Given the description of an element on the screen output the (x, y) to click on. 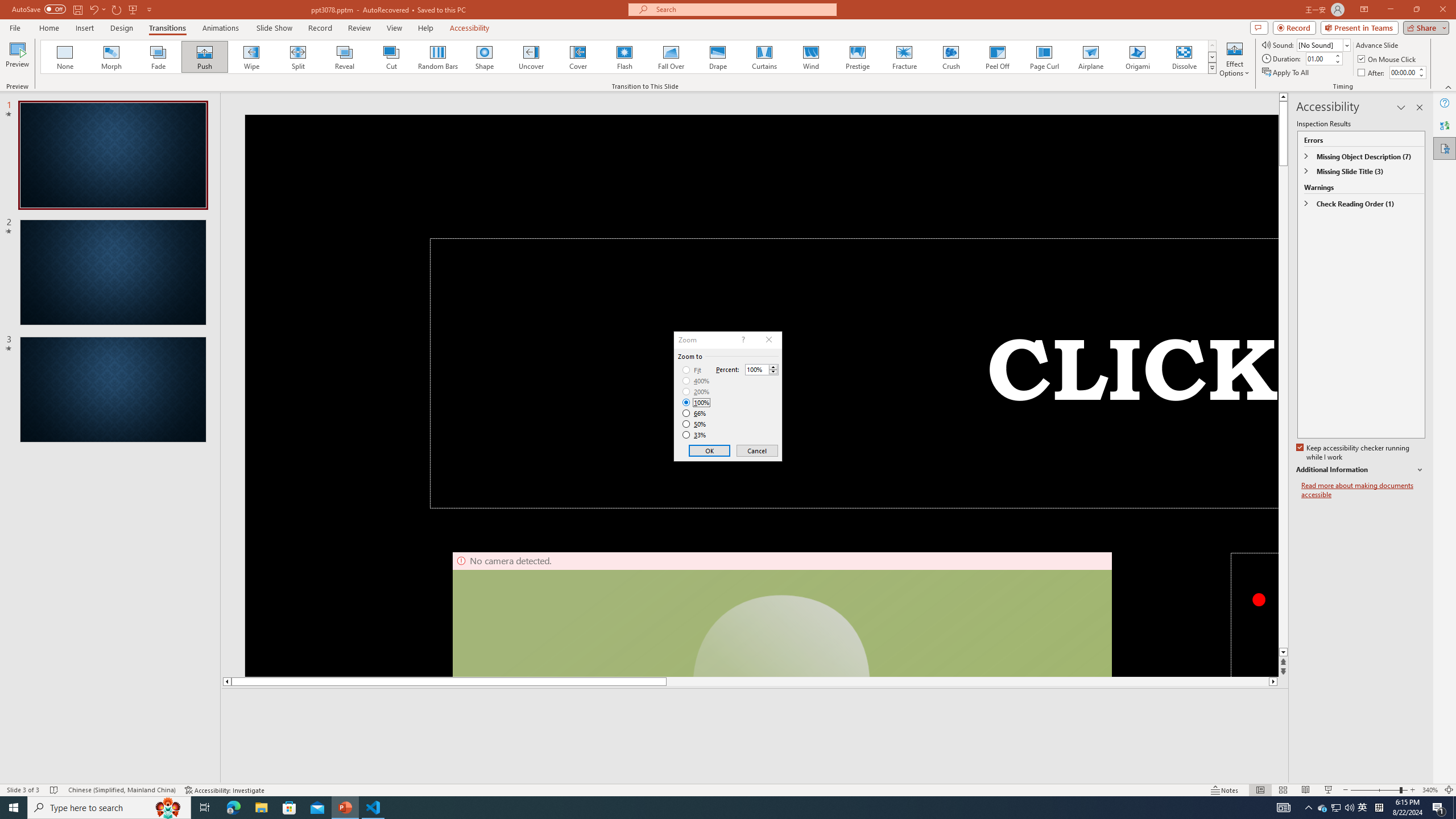
400% (696, 380)
Random Bars (437, 56)
OK (709, 450)
Peel Off (997, 56)
Action Center, 1 new notification (1439, 807)
